Given the description of an element on the screen output the (x, y) to click on. 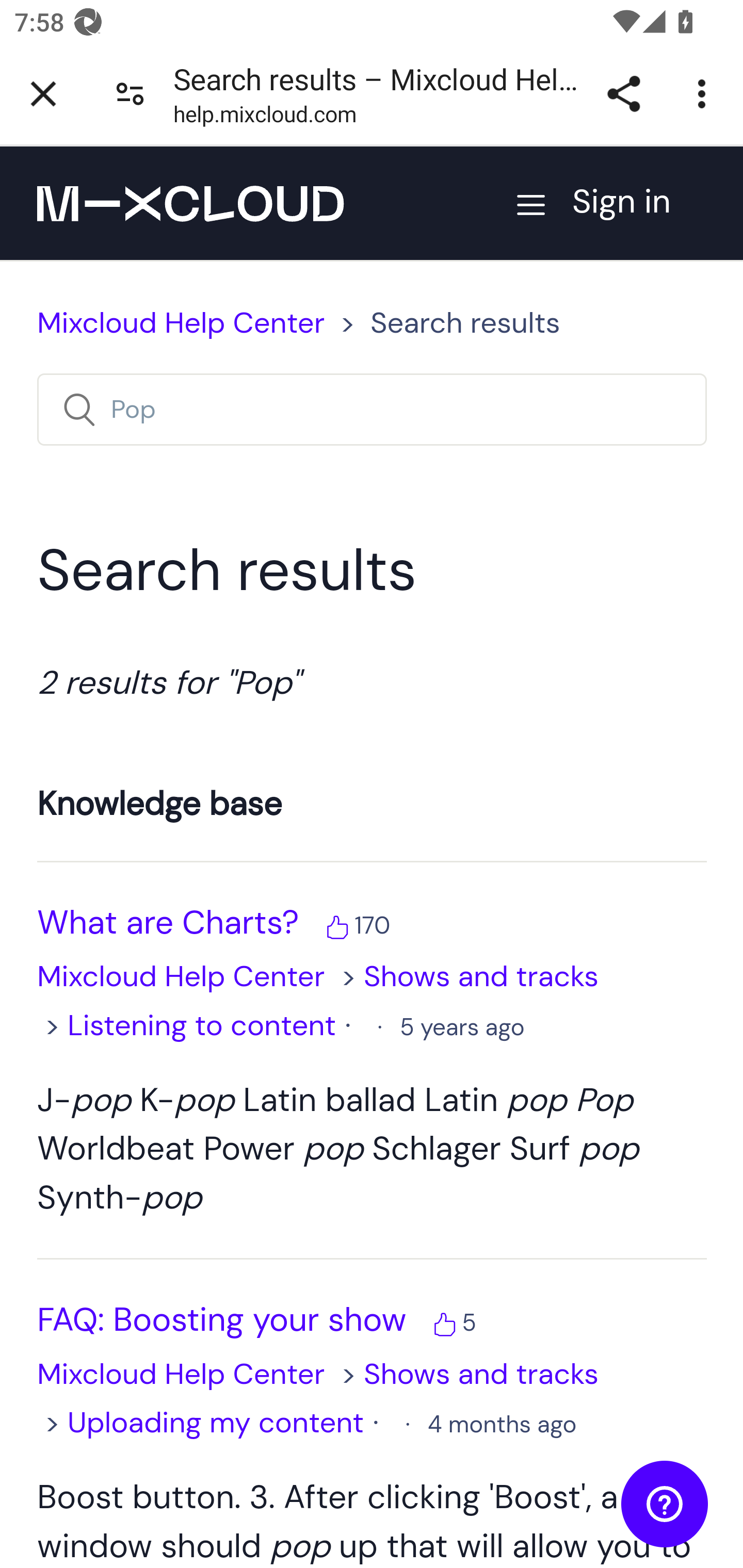
Close tab (43, 93)
Share (623, 93)
Customize and control Google Chrome (705, 93)
Connection is secure (129, 93)
help.mixcloud.com (264, 117)
Sign in (639, 202)
Toggle navigation menu (531, 202)
Home (190, 203)
Mixcloud Help Center (181, 322)
Pop (372, 408)
What are Charts? (167, 921)
Mixcloud Help Center (181, 976)
Shows and tracks (480, 976)
Listening to content (201, 1024)
FAQ: Boosting your show (221, 1320)
Mixcloud Help Center (181, 1373)
Shows and tracks (480, 1373)
Uploading my content (215, 1421)
